Given the description of an element on the screen output the (x, y) to click on. 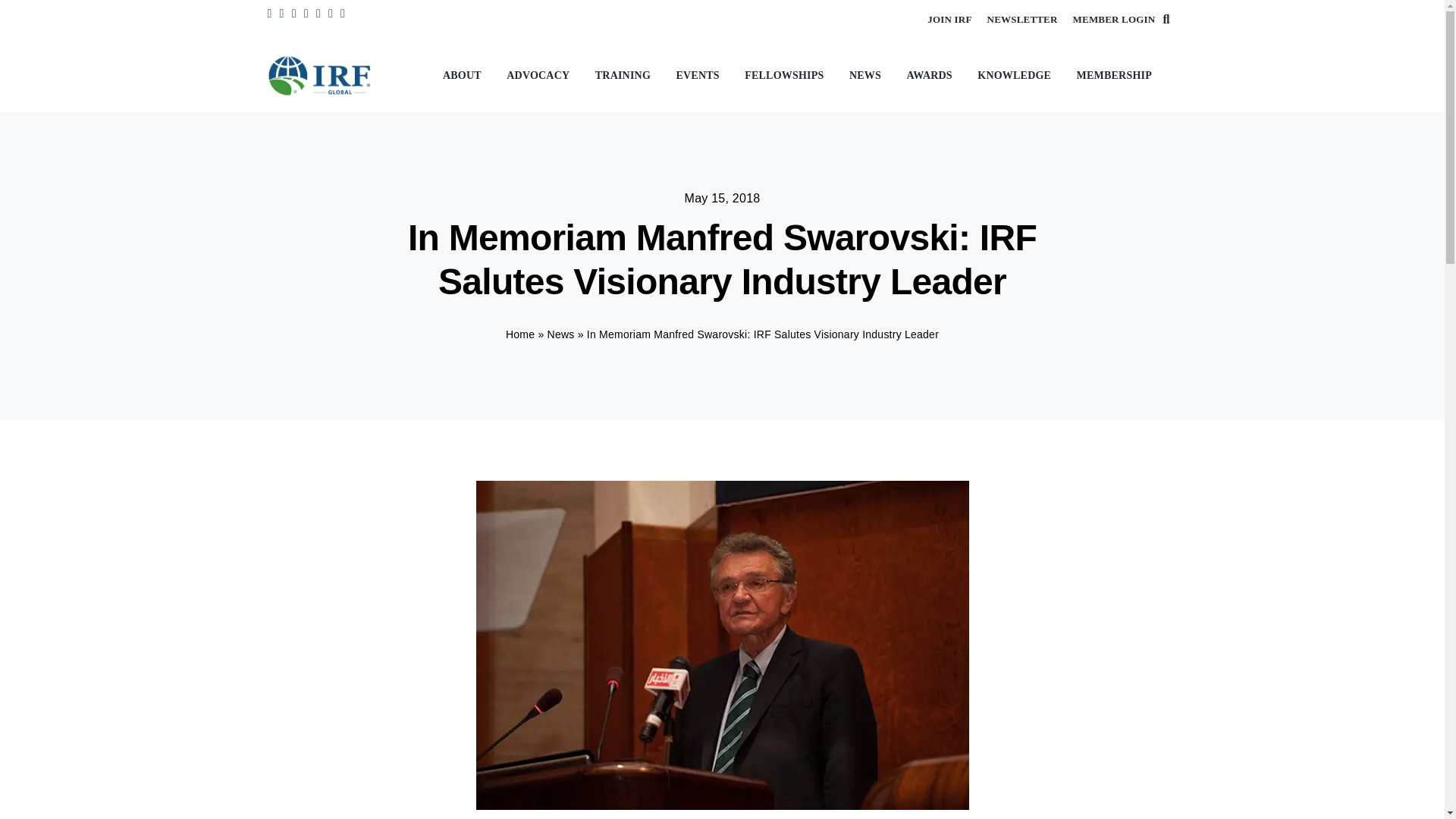
NEWSLETTER (1022, 19)
TRAINING (626, 75)
ABOUT (465, 75)
JOIN IRF (949, 19)
ADVOCACY (541, 75)
MEMBER LOGIN (1114, 19)
